Given the description of an element on the screen output the (x, y) to click on. 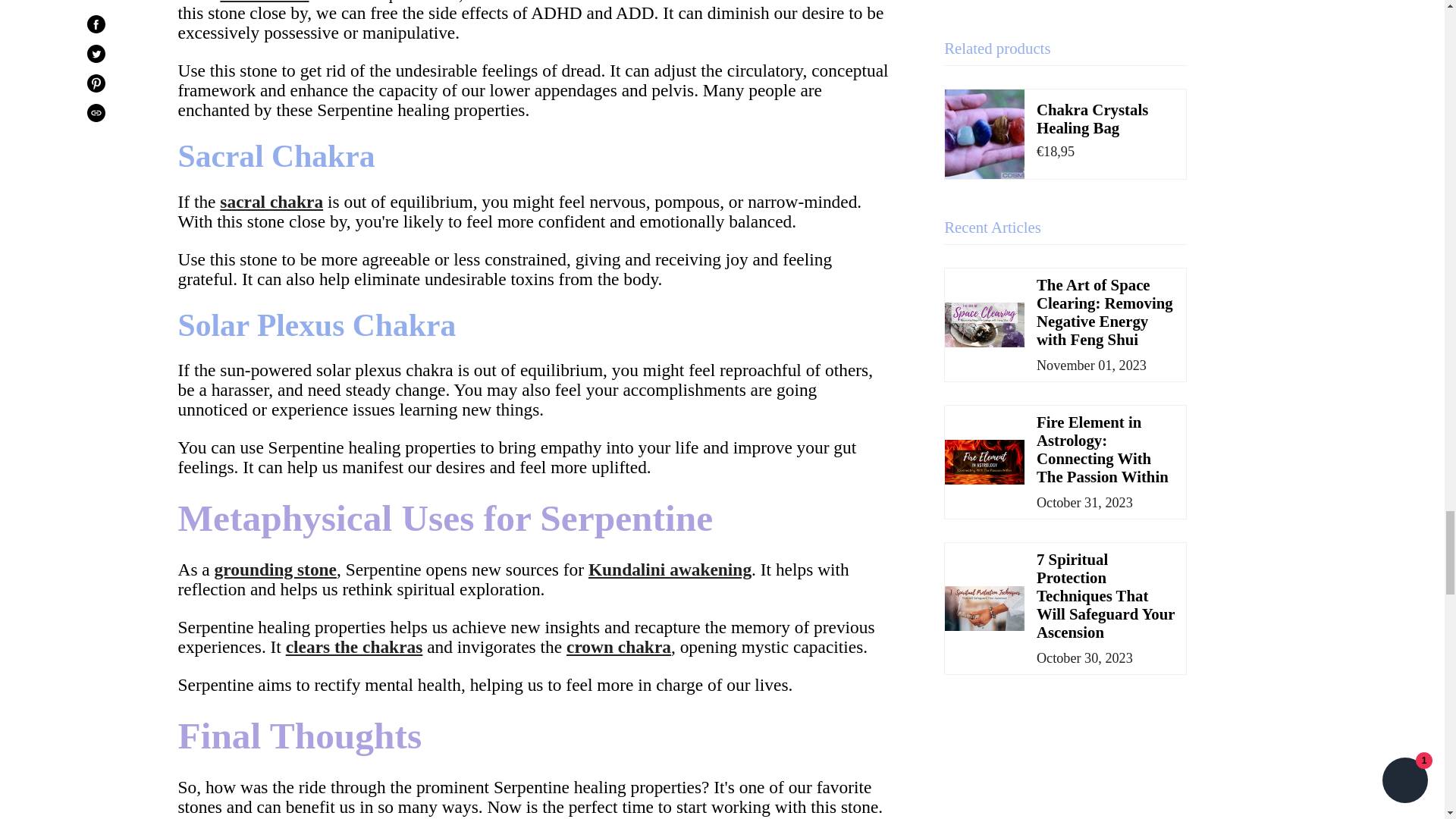
root chakra (263, 1)
sacral chakra (271, 201)
